Given the description of an element on the screen output the (x, y) to click on. 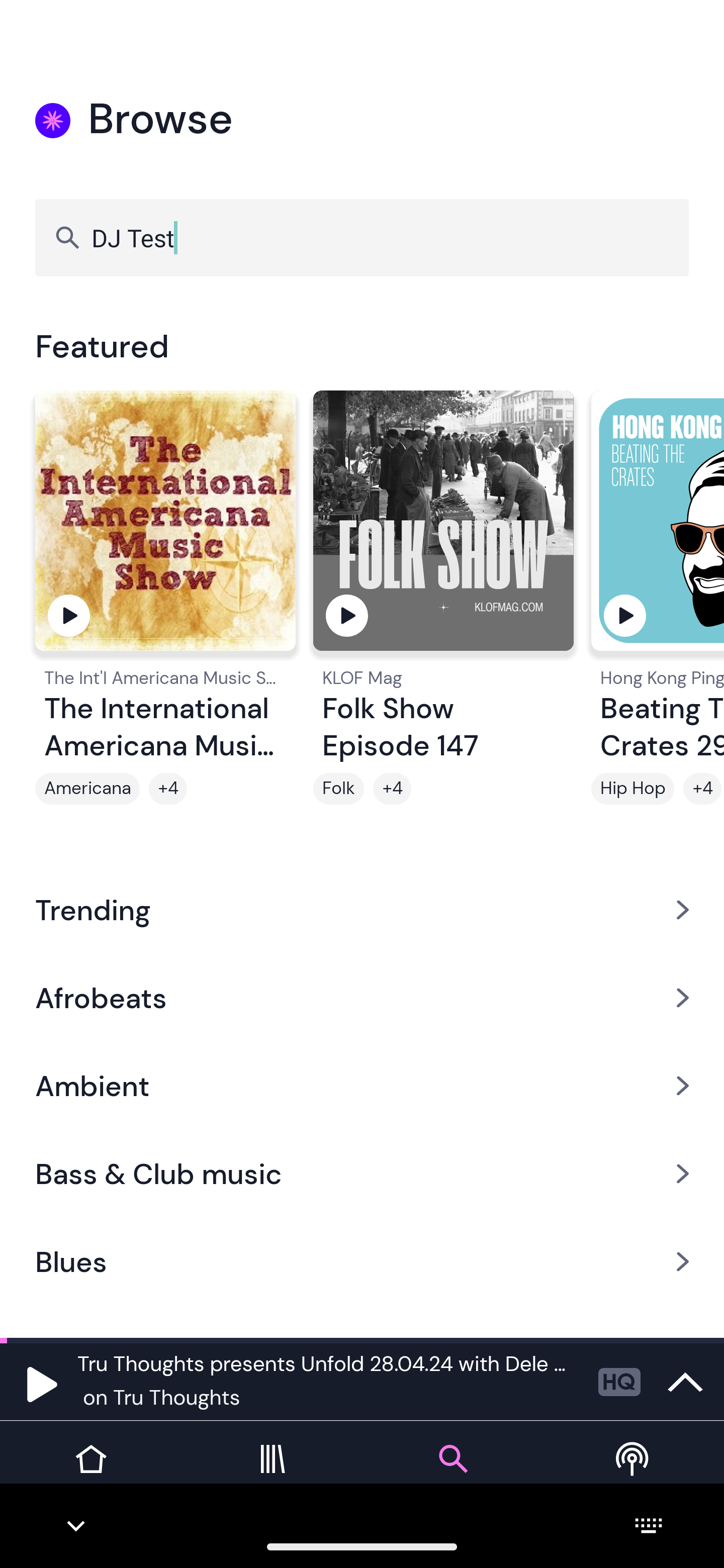
DJ Test (361, 237)
Americana (87, 788)
Folk (338, 788)
Hip Hop (632, 788)
Trending (361, 909)
Afrobeats (361, 997)
Ambient (361, 1085)
Bass & Club music (361, 1174)
Blues (361, 1262)
Home tab (90, 1473)
Library tab (271, 1473)
Browse tab (452, 1473)
Live tab (633, 1473)
